Given the description of an element on the screen output the (x, y) to click on. 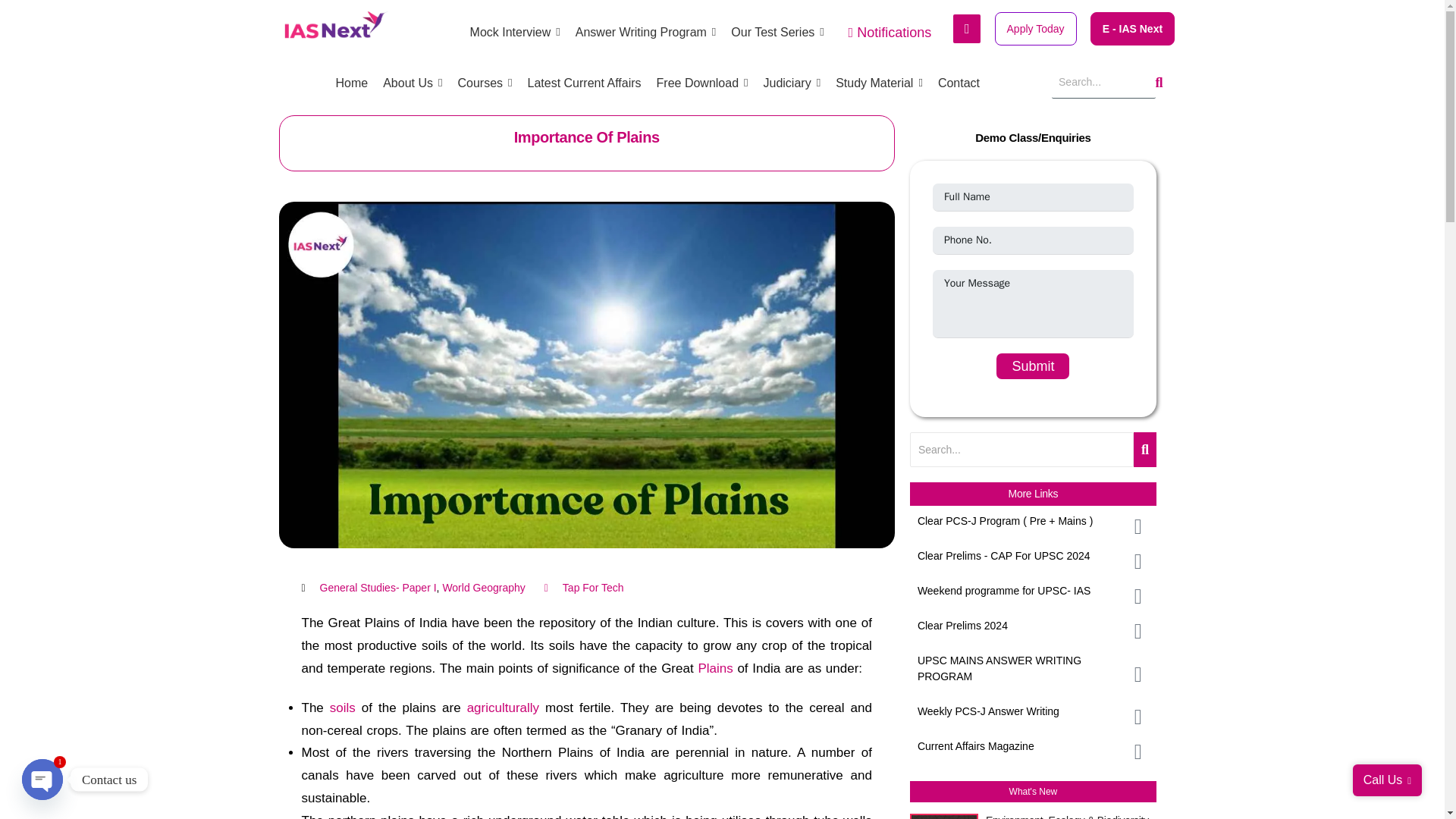
Mock Interview (515, 32)
Answer Writing Program (645, 32)
Search (1022, 449)
Our Test Series (777, 32)
Search (1103, 82)
